Given the description of an element on the screen output the (x, y) to click on. 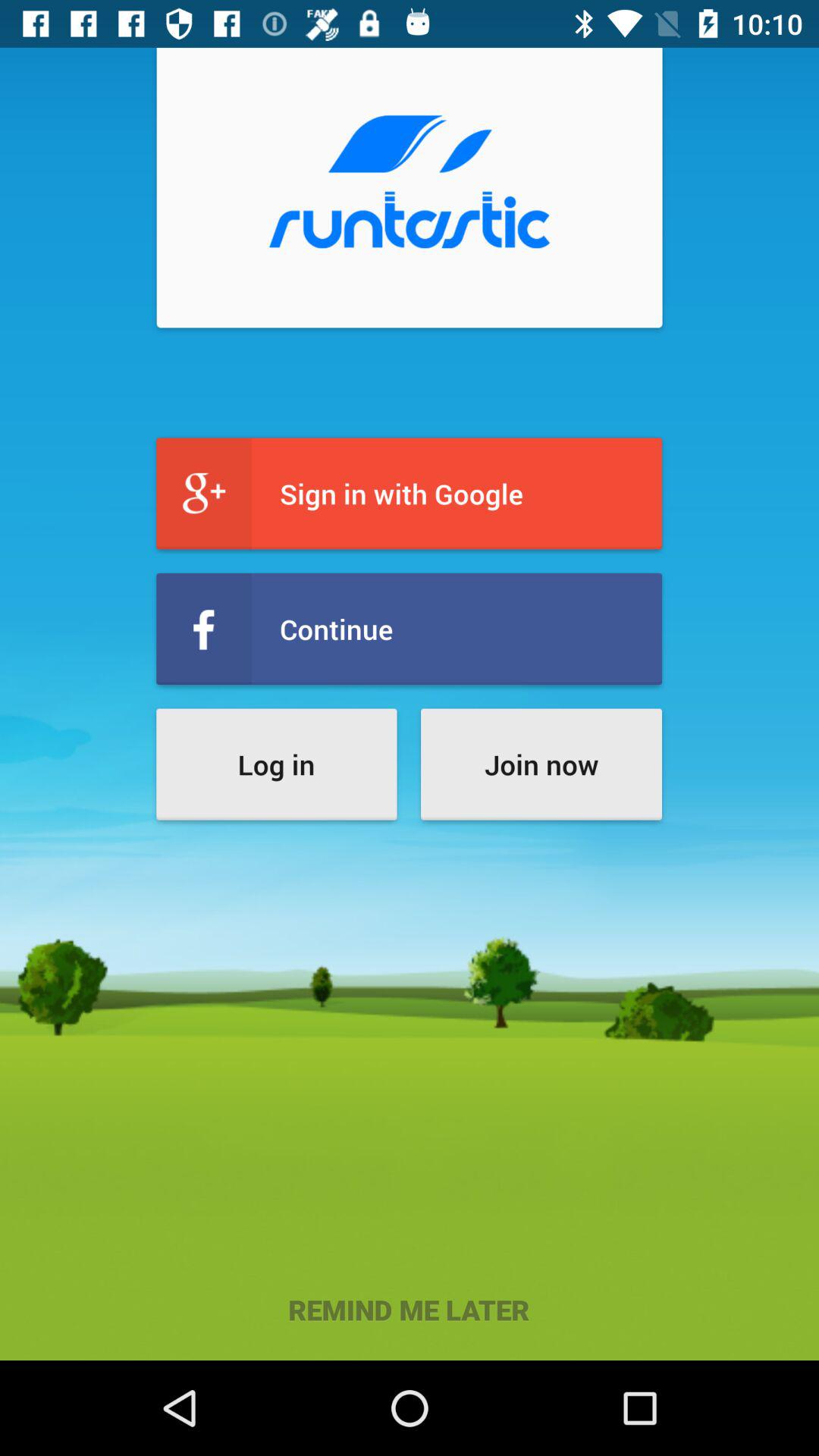
tap the join now (541, 764)
